Given the description of an element on the screen output the (x, y) to click on. 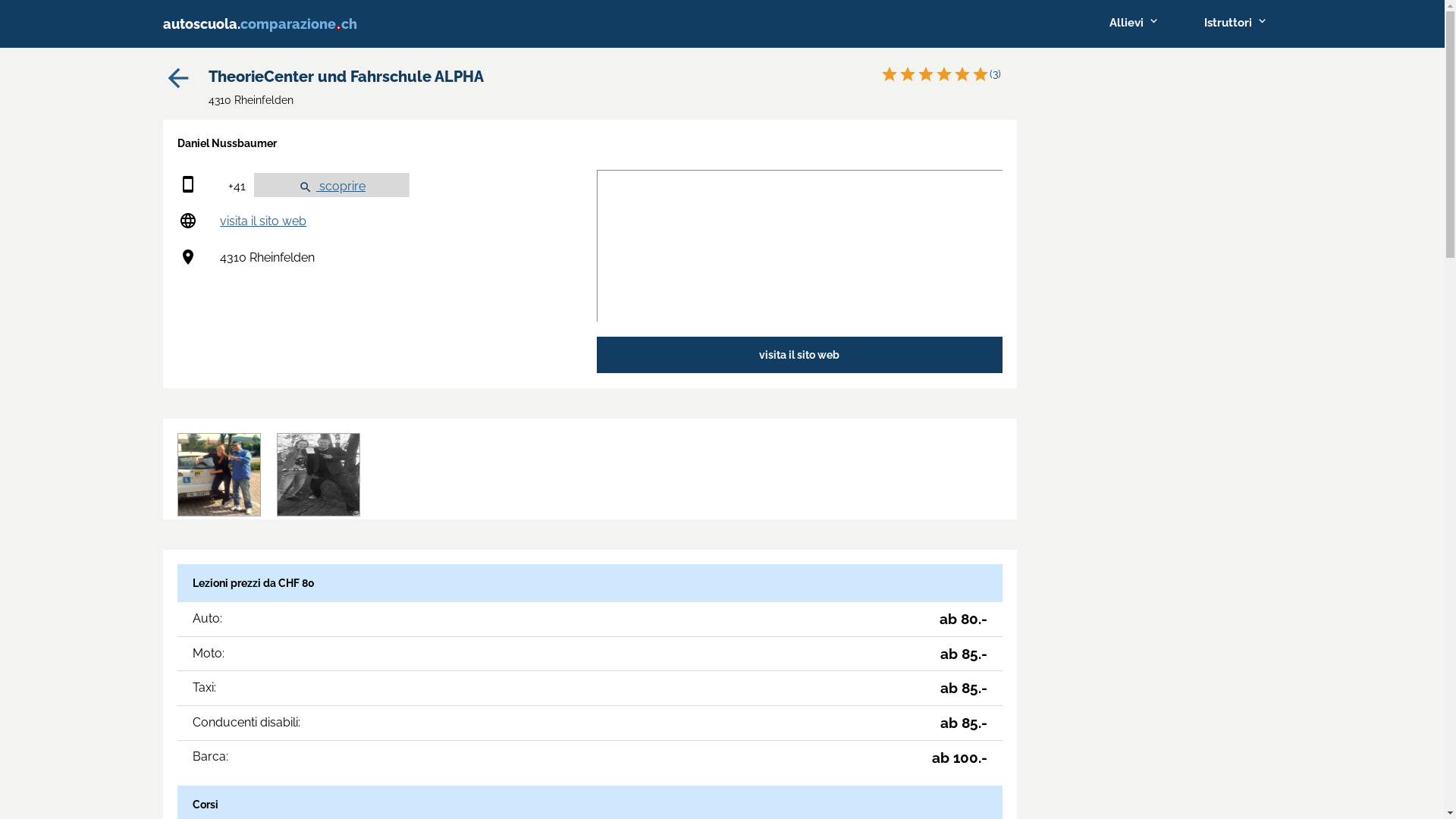
Allievi
expand_more Element type: text (1133, 22)
3 Visualizza valutazioni Element type: hover (941, 73)
autoscuola.comparazione
ch Element type: text (260, 23)
map Element type: hover (798, 245)
Istruttori
expand_more Element type: text (1235, 22)
arrow_back Element type: text (177, 88)
visita il sito web Element type: text (798, 354)
visita il sito web Element type: text (262, 220)
